Given the description of an element on the screen output the (x, y) to click on. 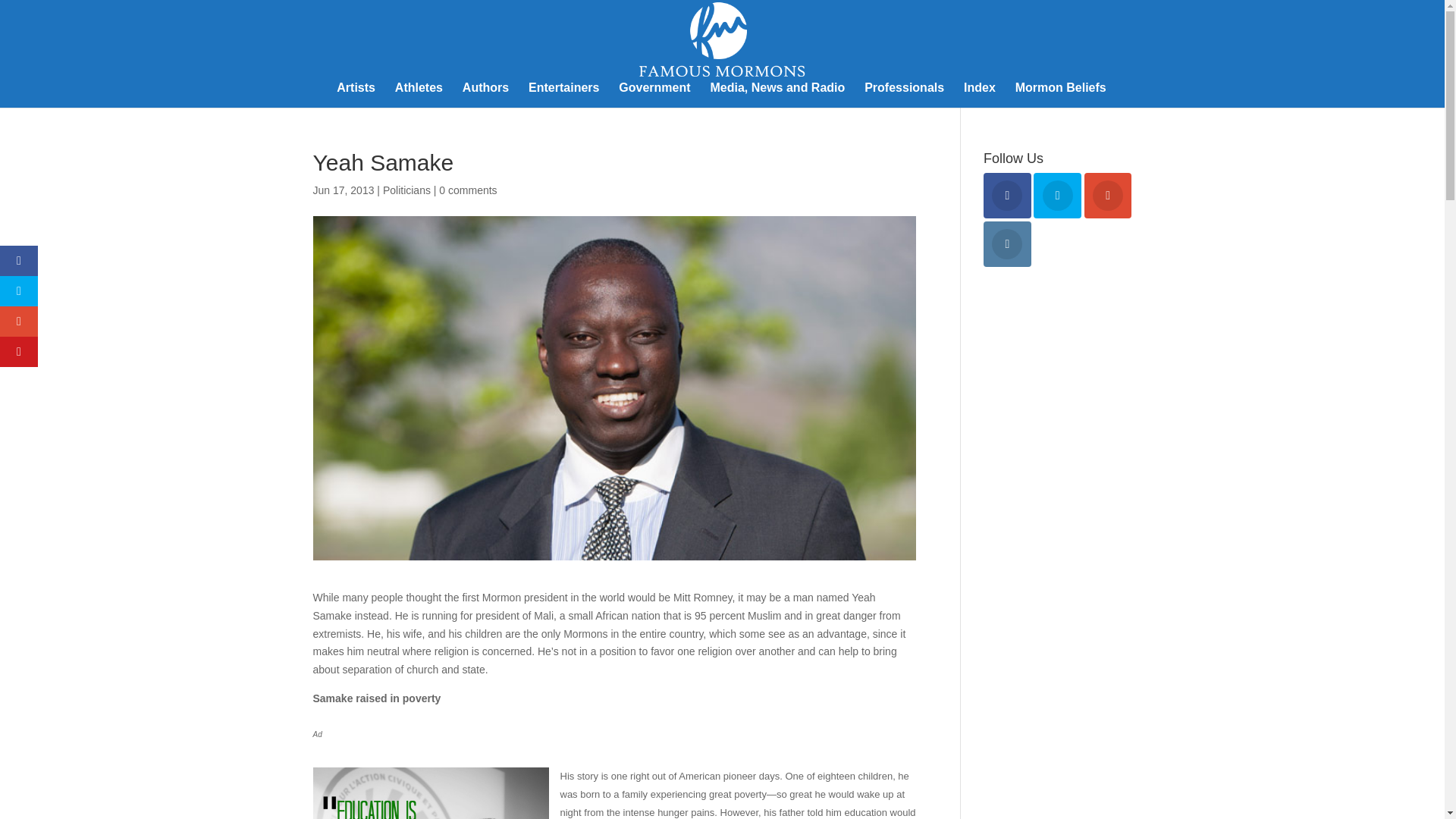
Artists (355, 94)
Index (979, 94)
0 comments (467, 190)
Athletes (418, 94)
Entertainers (563, 94)
Authors (485, 94)
Government (654, 94)
Mormon Beliefs (1060, 94)
Professionals (903, 94)
Media, News and Radio (777, 94)
